Given the description of an element on the screen output the (x, y) to click on. 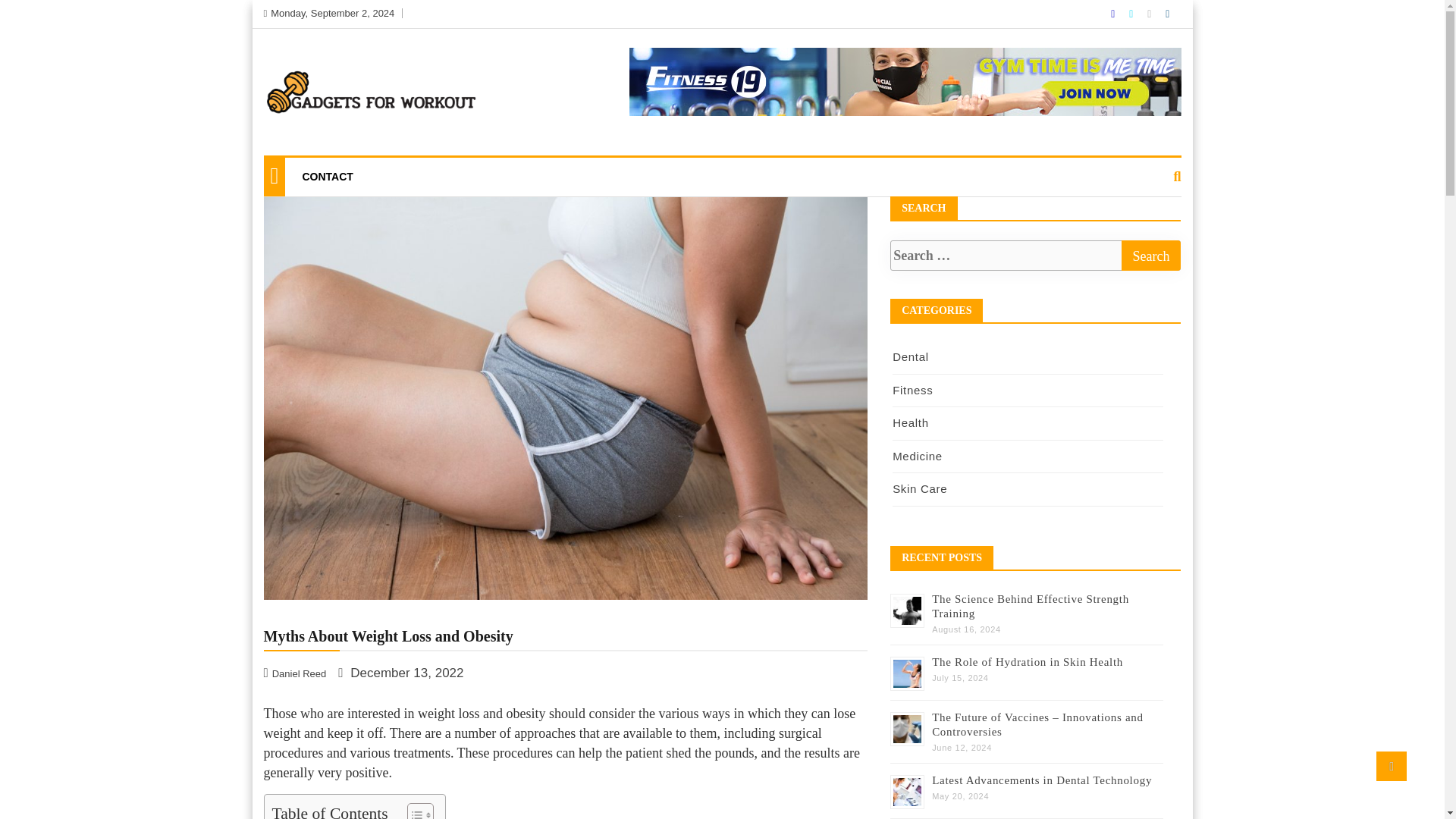
Search (1150, 255)
CONTACT (326, 176)
The Science Behind Effective Strength Training (1030, 605)
Daniel Reed (296, 672)
Fitness (912, 390)
Search (1150, 255)
Health (910, 422)
Medicine (917, 454)
The Role of Hydration in Skin Health (1026, 661)
Gadgets For Workout (335, 153)
